Given the description of an element on the screen output the (x, y) to click on. 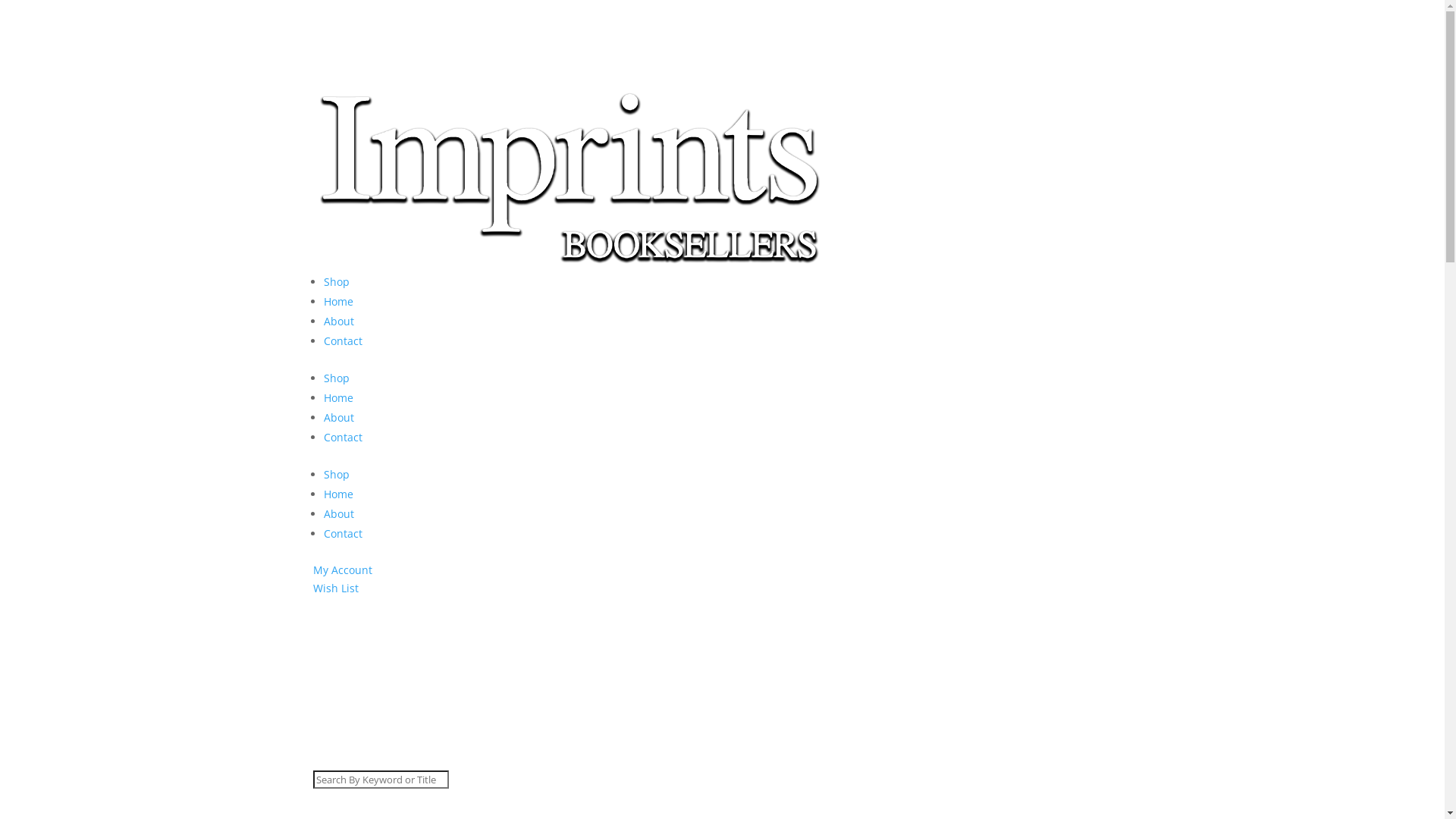
About Element type: text (338, 417)
Contact Element type: text (342, 436)
About Element type: text (338, 513)
Home Element type: text (337, 397)
Contact Element type: text (342, 533)
Shop Element type: text (335, 474)
Home Element type: text (337, 301)
Shop Element type: text (335, 377)
Home Element type: text (337, 493)
Wish List Element type: text (334, 587)
Contact Element type: text (342, 340)
About Element type: text (338, 320)
Shop Element type: text (335, 281)
My Account Element type: text (341, 569)
